Given the description of an element on the screen output the (x, y) to click on. 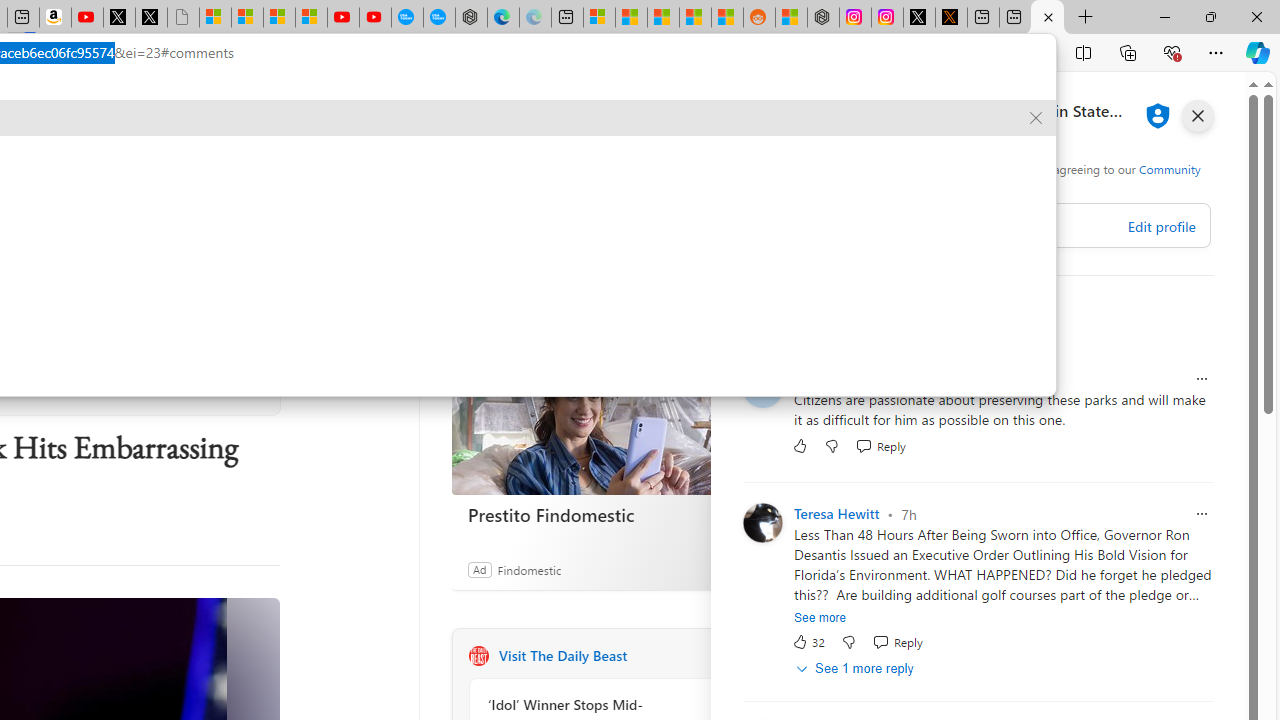
help.x.com | 524: A timeout occurred (950, 17)
Community Guidelines (971, 176)
Day 1: Arriving in Yemen (surreal to be here) - YouTube (87, 17)
The Daily Beast (478, 655)
MMA / UFC (322, 162)
NCAA FB (117, 162)
anim-content (115, 255)
Prestito Findomestic (601, 416)
Like (799, 445)
